Given the description of an element on the screen output the (x, y) to click on. 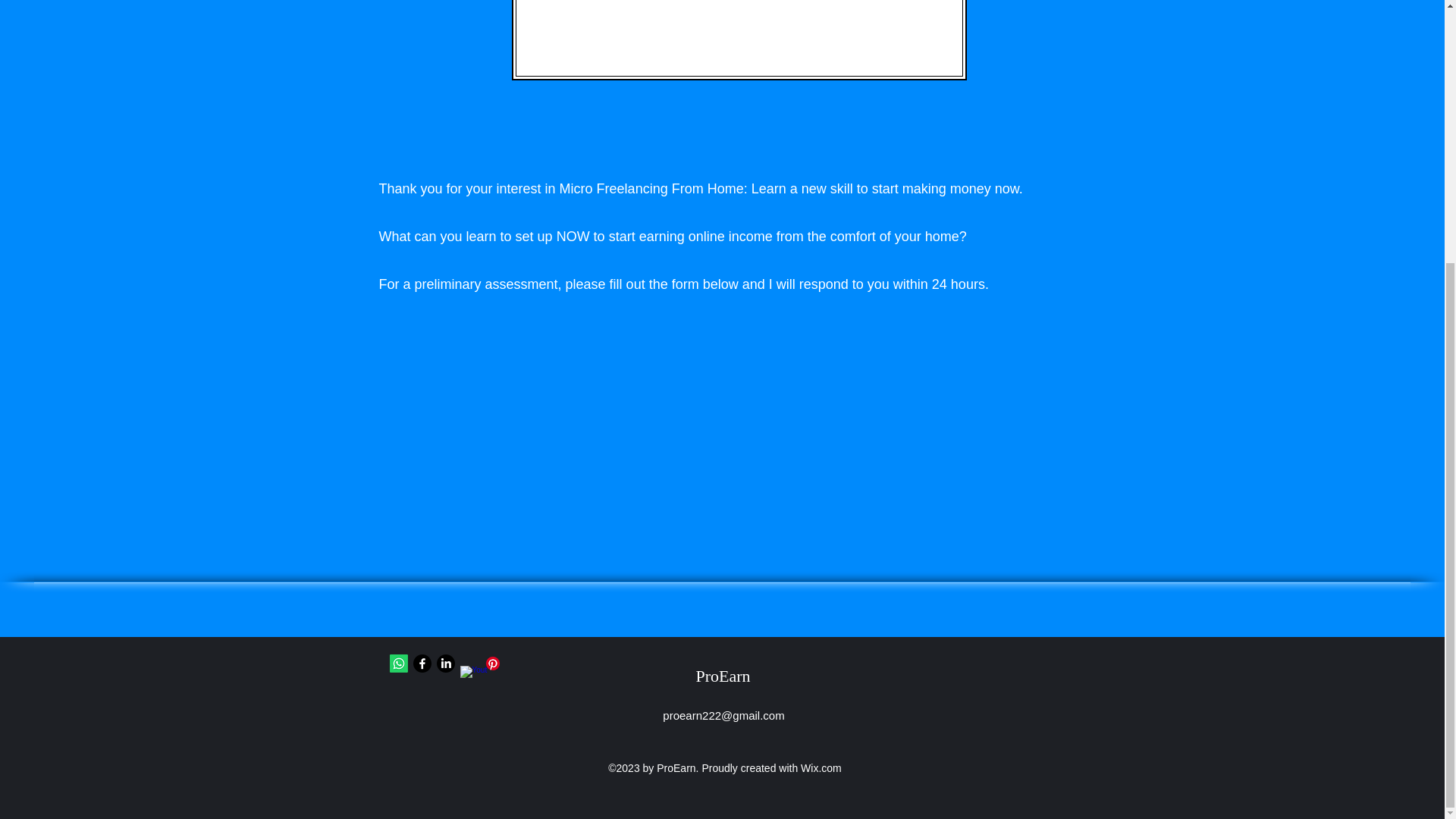
Sign up to learn a new skill with micro freelancing. (738, 40)
